Given the description of an element on the screen output the (x, y) to click on. 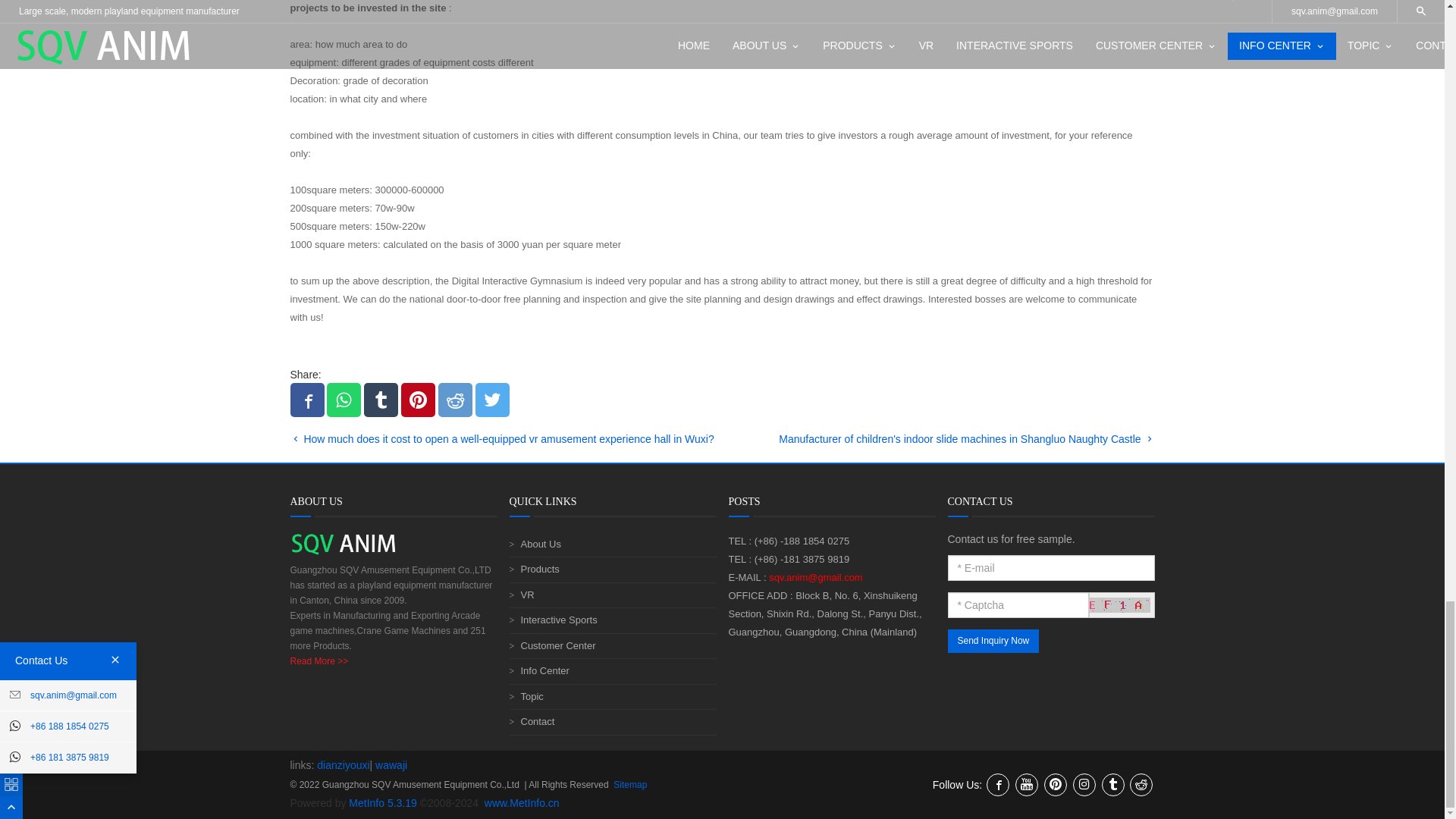
about us (318, 661)
Share on twitter (492, 399)
email us (815, 577)
follow us on pinterest (1055, 784)
Share on reddit (454, 399)
Share on facebook (306, 399)
sitemap (629, 784)
Share on whatsapp (343, 399)
Share on pinterest (418, 399)
